Given the description of an element on the screen output the (x, y) to click on. 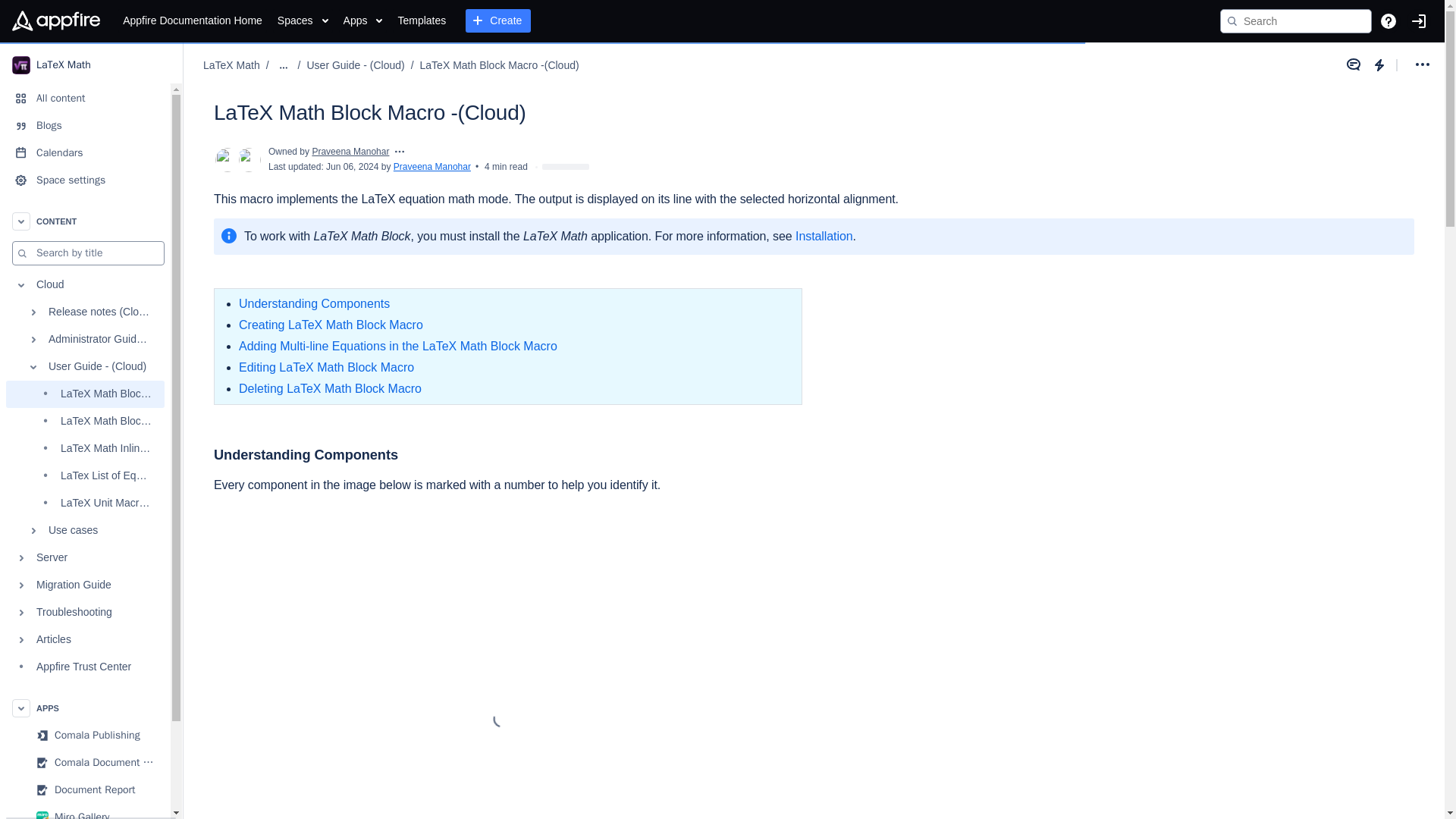
Appfire Documentation Home (191, 21)
Migration Guide (84, 584)
Space settings (84, 180)
Apps (363, 21)
Server (84, 557)
Troubleshooting (84, 612)
APPS (84, 707)
Cloud (84, 284)
Spaces (303, 21)
Comala Publishing (84, 735)
